Given the description of an element on the screen output the (x, y) to click on. 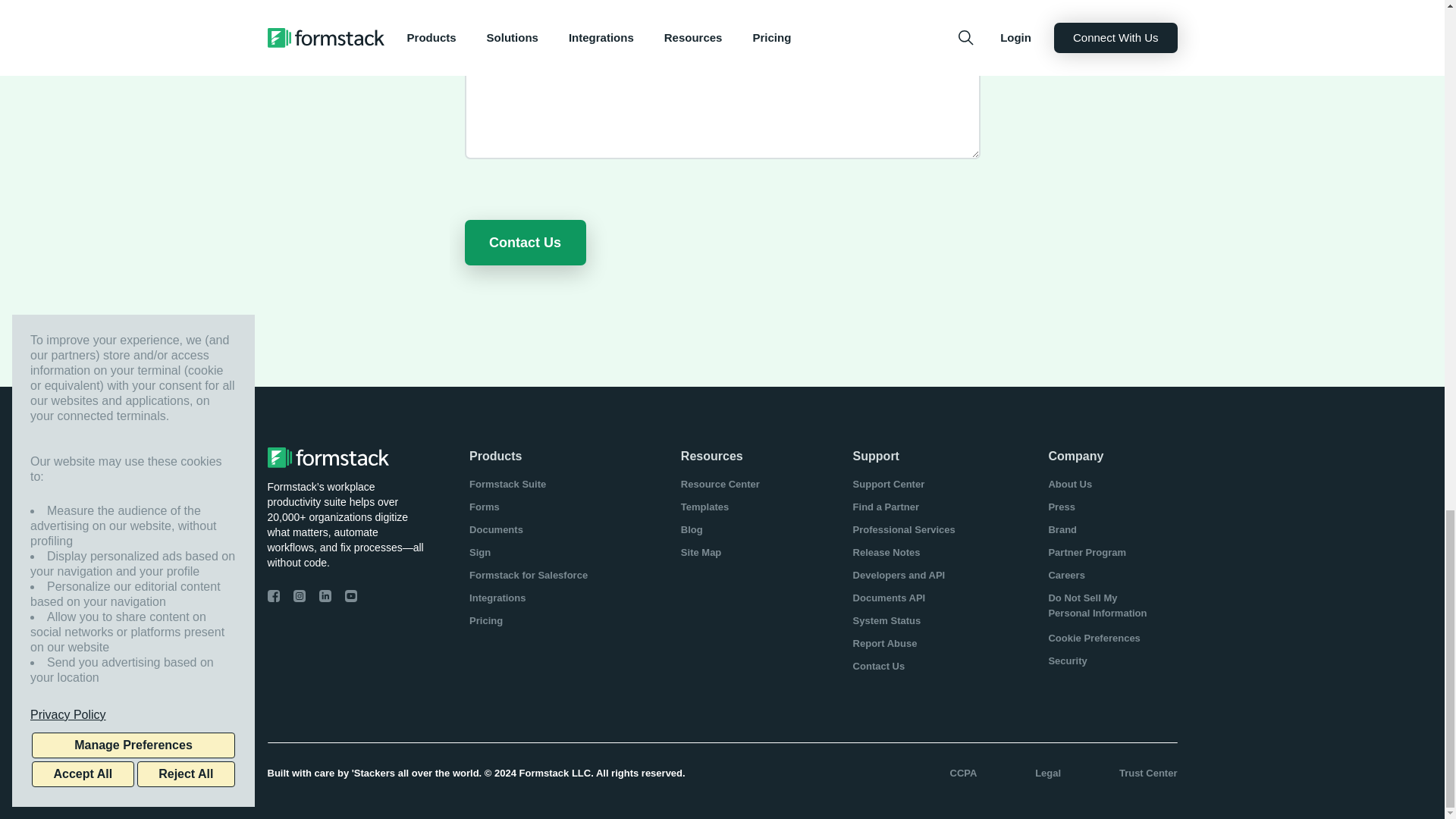
Contact Us (524, 242)
